Given the description of an element on the screen output the (x, y) to click on. 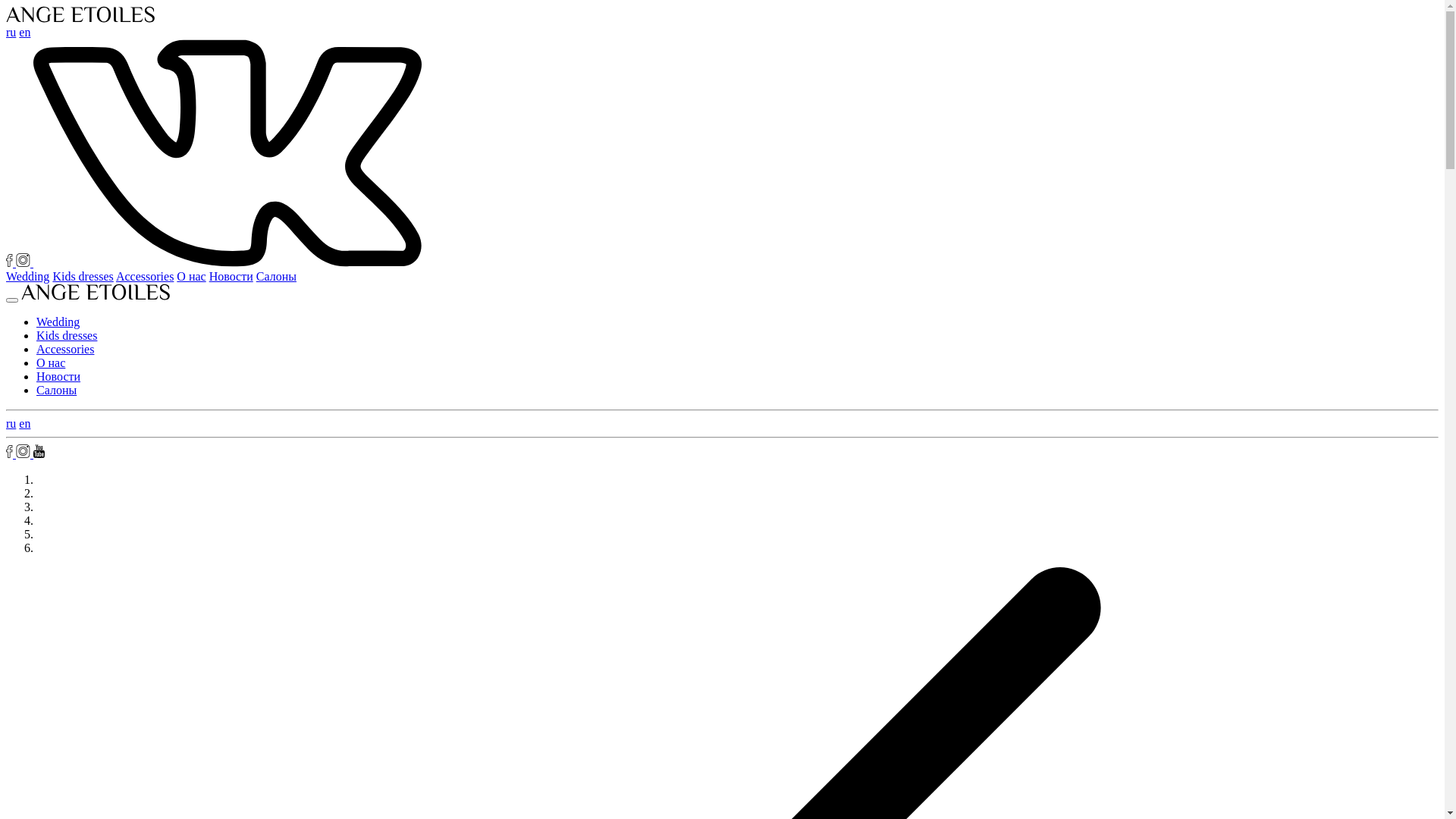
Accessories Element type: text (65, 348)
Wedding Element type: text (57, 321)
> Element type: text (227, 262)
Accessories Element type: text (144, 275)
ru Element type: text (10, 31)
Wedding Element type: text (27, 275)
Kids dresses Element type: text (82, 275)
Kids dresses Element type: text (66, 335)
en Element type: text (24, 423)
ru Element type: text (10, 423)
en Element type: text (24, 31)
